Given the description of an element on the screen output the (x, y) to click on. 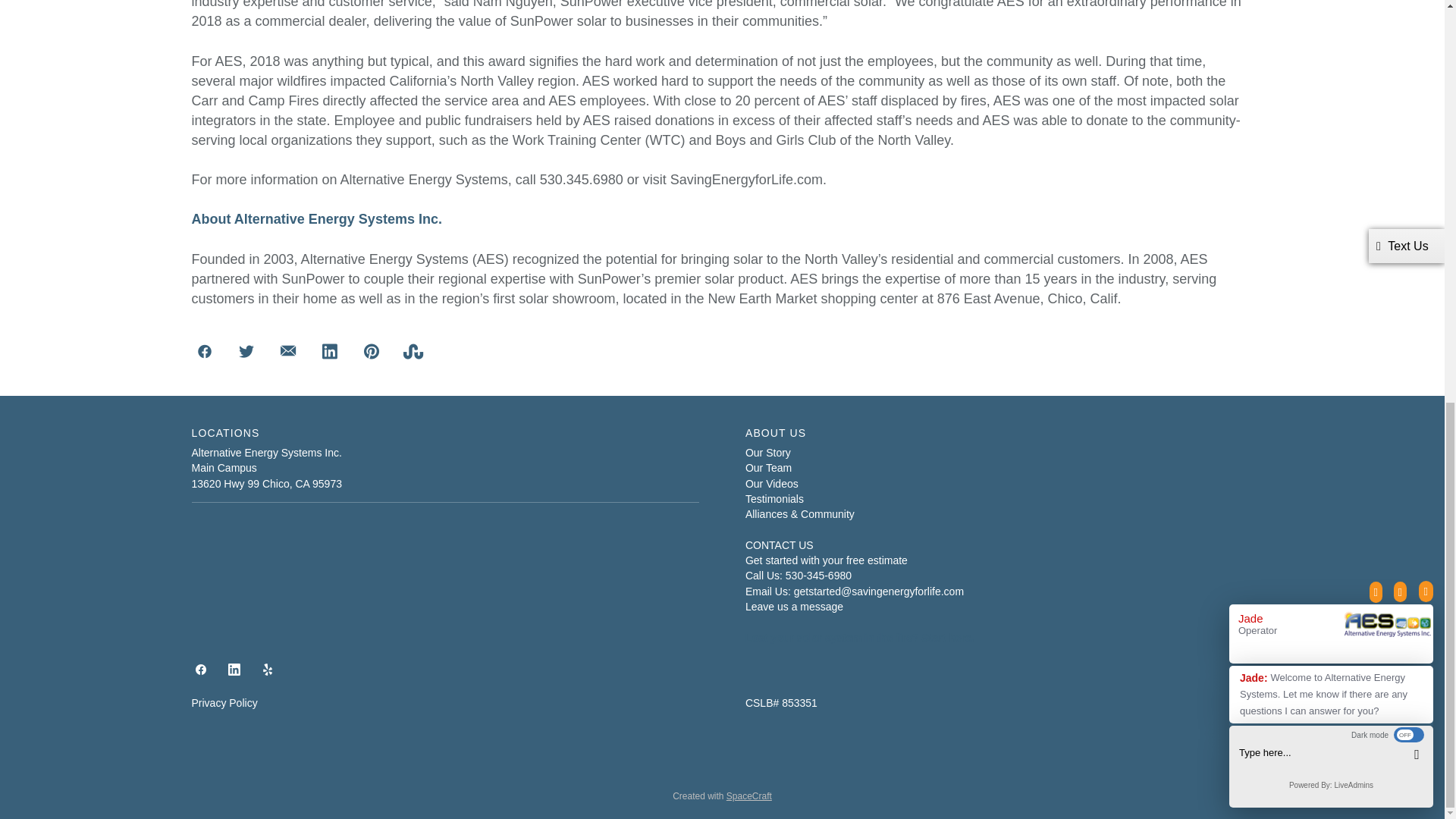
Leave us a message (794, 606)
13620 Hwy 99 Chico, CA 95973 (265, 483)
Created with SpaceCraft (721, 796)
Testimonials (774, 499)
Our Team (768, 467)
Our Story (767, 452)
Our Videos (771, 483)
Lost your solar system in the fire? Start here. (859, 637)
Get started with your free estimate (826, 560)
Privacy Policy (223, 702)
